Given the description of an element on the screen output the (x, y) to click on. 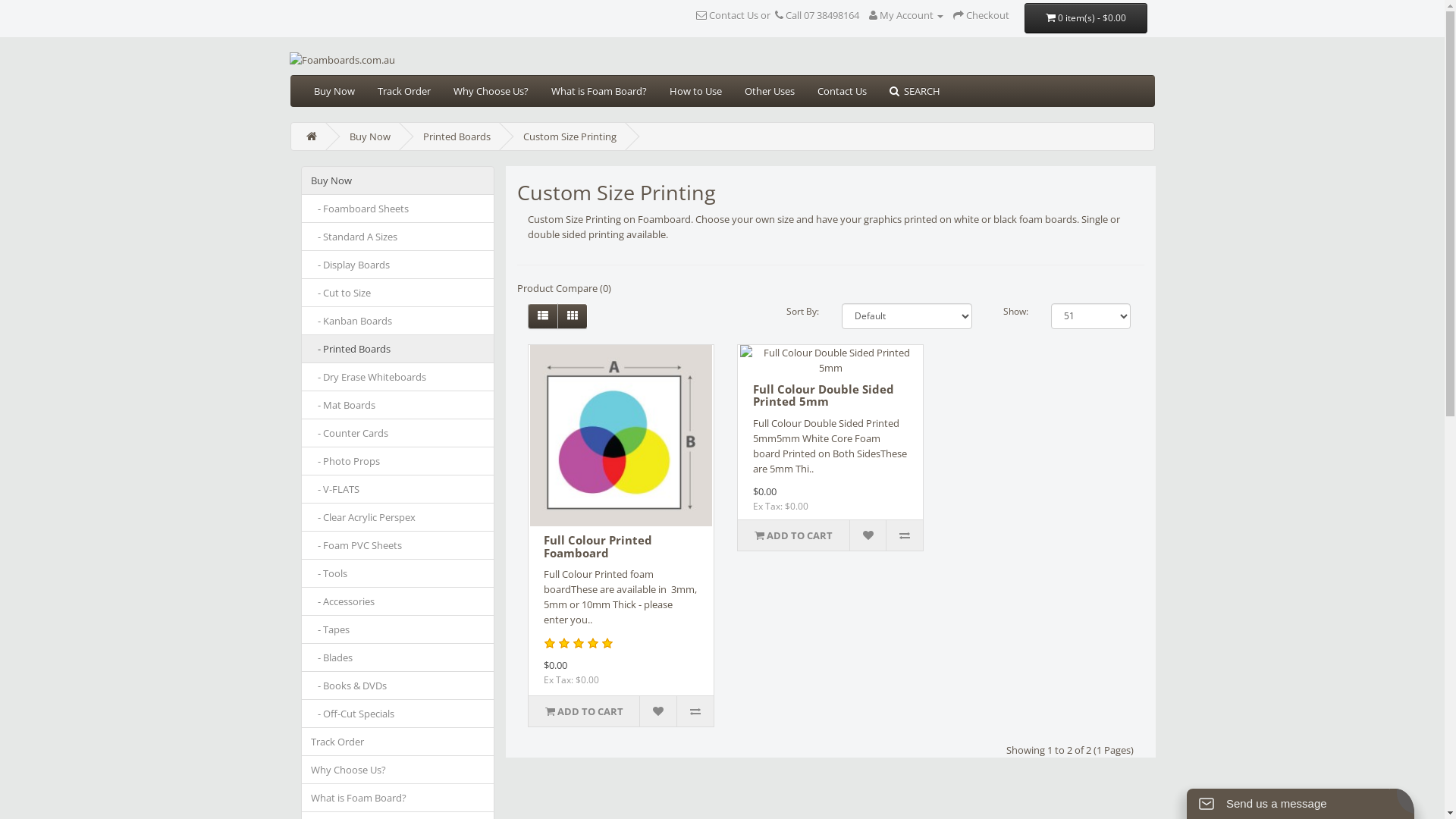
Other Uses Element type: text (768, 90)
What is Foam Board? Element type: text (397, 797)
Contact Us or Element type: text (734, 14)
ADD TO CART Element type: text (792, 535)
What is Foam Board? Element type: text (598, 90)
   - Display Boards Element type: text (397, 264)
   - Mat Boards Element type: text (397, 404)
Why Choose Us? Element type: text (397, 769)
ADD TO CART Element type: text (583, 711)
   - Blades Element type: text (397, 657)
Checkout Element type: text (981, 14)
Contact Us Element type: text (841, 90)
   - Printed Boards Element type: text (397, 348)
Full Colour Printed Foamboard Element type: text (597, 546)
Buy Now Element type: text (397, 180)
How to Use Element type: text (695, 90)
   - Clear Acrylic Perspex Element type: text (397, 516)
  SEARCH Element type: text (914, 90)
Product Compare (0) Element type: text (564, 287)
   - Standard A Sizes Element type: text (397, 236)
Printed Boards Element type: text (456, 136)
   - Dry Erase Whiteboards Element type: text (397, 376)
0 item(s) - $0.00 Element type: text (1085, 18)
Full Colour Double Sided Printed 5mm Element type: text (823, 395)
Custom Size Printing Element type: text (569, 136)
My Account Element type: text (906, 14)
Why Choose Us? Element type: text (490, 90)
Track Order Element type: text (403, 90)
   - Kanban Boards Element type: text (397, 320)
Foamboards.com.au Element type: hover (713, 59)
   - Tapes Element type: text (397, 629)
Buy Now Element type: text (368, 136)
Buy Now Element type: text (333, 90)
   - V-FLATS Element type: text (397, 488)
   - Accessories Element type: text (397, 600)
Full Colour Printed Foamboard Element type: hover (620, 435)
   - Foamboard Sheets Element type: text (397, 208)
Full Colour Double Sided Printed 5mm Element type: hover (830, 360)
   - Photo Props Element type: text (397, 460)
   - Foam PVC Sheets Element type: text (397, 544)
   - Off-Cut Specials Element type: text (397, 713)
   - Tools Element type: text (397, 572)
   - Books & DVDs Element type: text (397, 685)
   - Cut to Size Element type: text (397, 292)
   - Counter Cards Element type: text (397, 432)
Track Order Element type: text (397, 741)
